Given the description of an element on the screen output the (x, y) to click on. 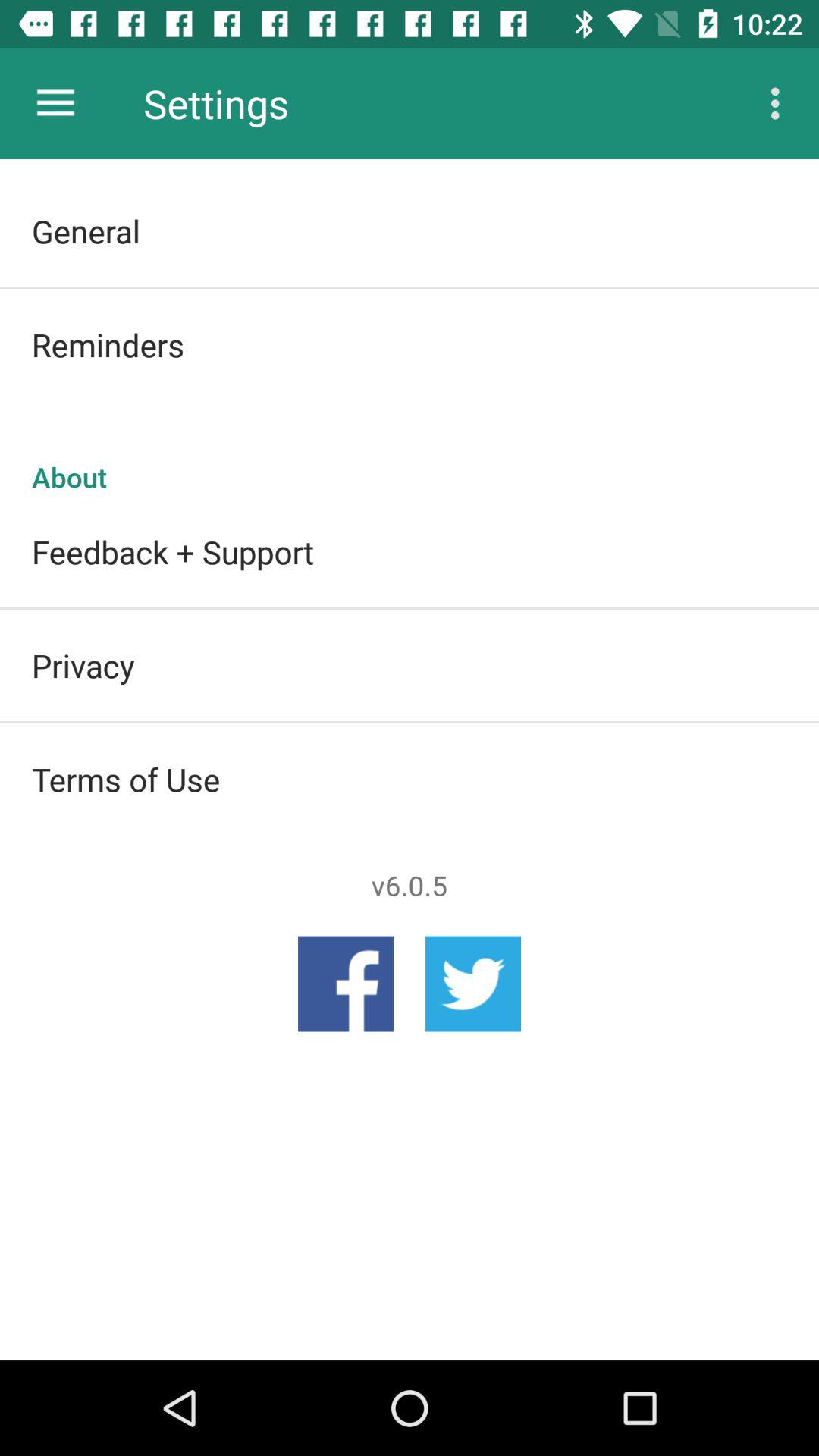
swipe to the general icon (409, 230)
